Given the description of an element on the screen output the (x, y) to click on. 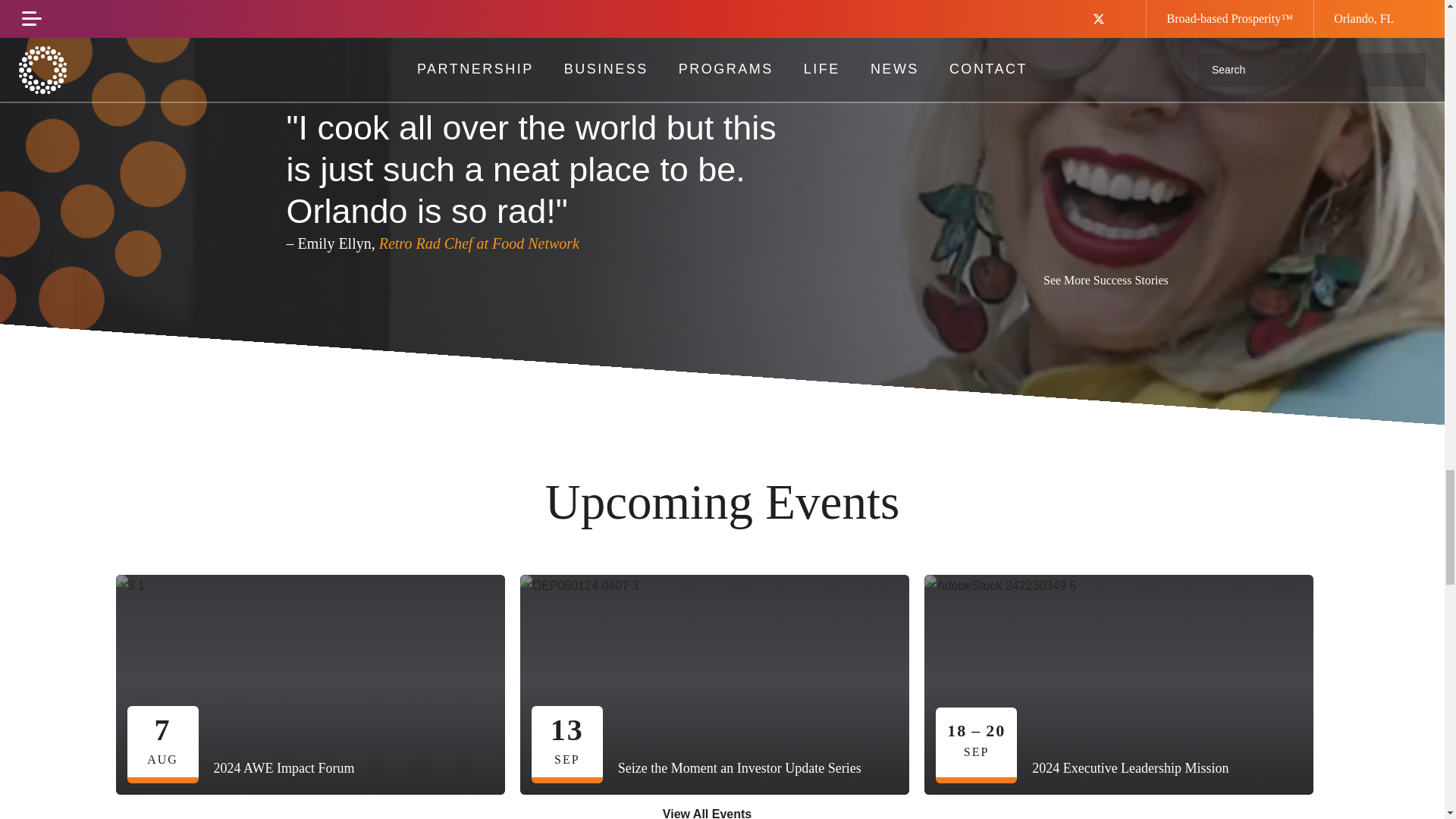
2024 AWE Impact Forum 2 (310, 684)
Seize the Moment an Investor Update Series 4 (713, 684)
2024 Executive Leadership Mission 6 (1118, 684)
